Given the description of an element on the screen output the (x, y) to click on. 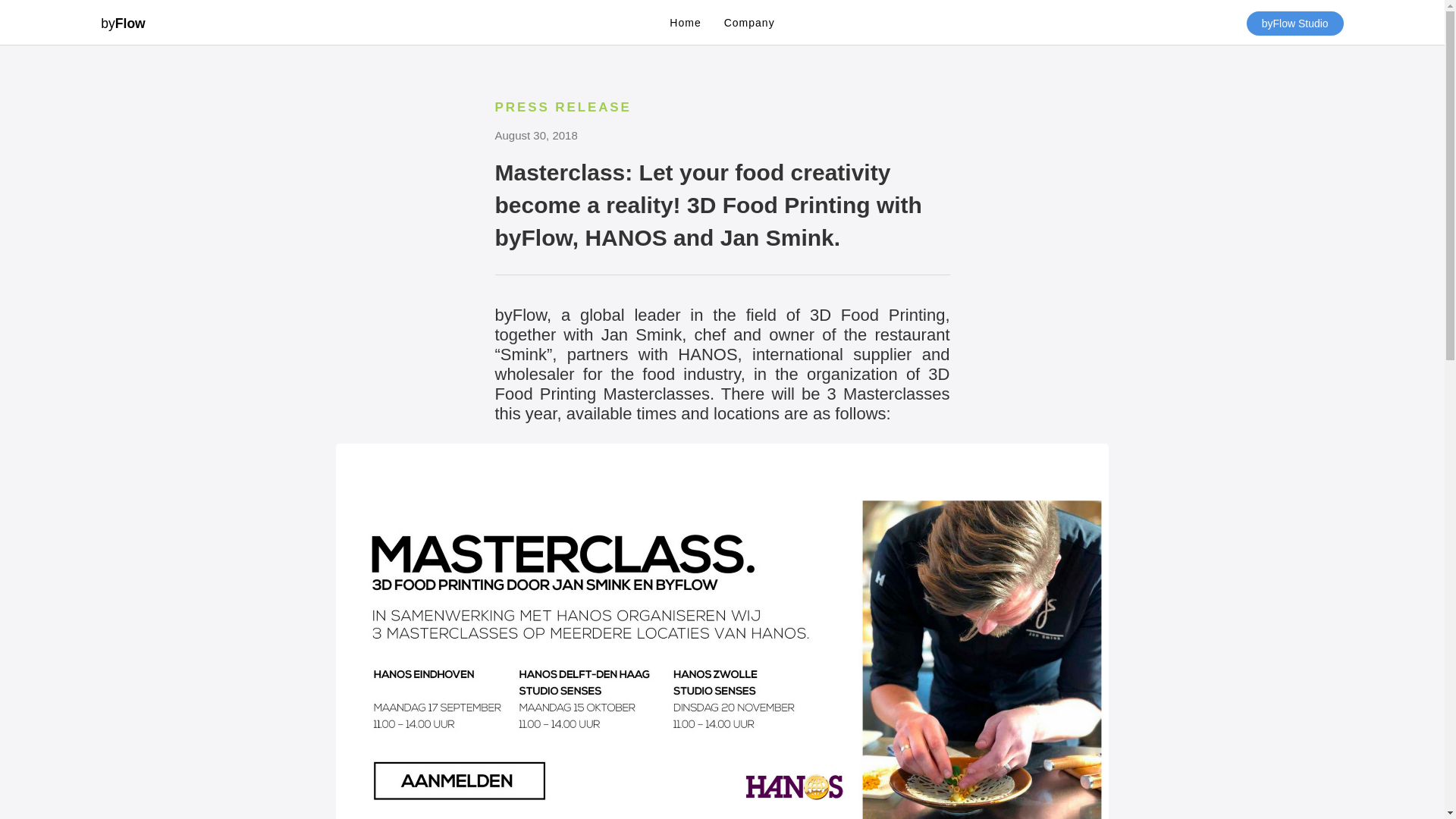
byFlow Element type: text (122, 18)
Company Element type: text (749, 22)
Home Element type: text (684, 22)
byFlow Studio Element type: text (1294, 23)
